Given the description of an element on the screen output the (x, y) to click on. 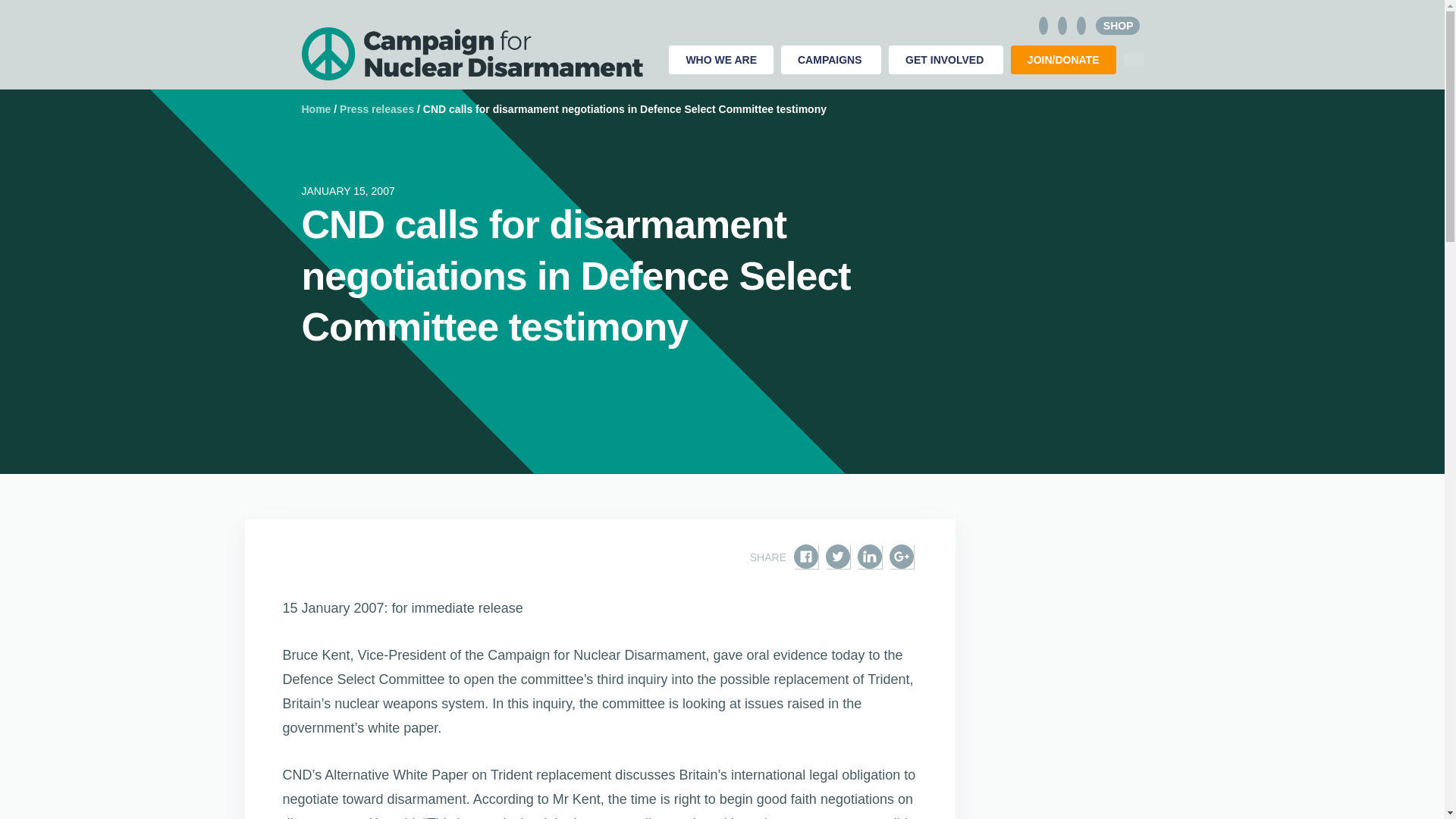
Home (316, 109)
CAMPAIGNS (830, 59)
Share on Facebook (805, 556)
Twitter (837, 556)
Share on Twitter (837, 556)
WHO WE ARE (720, 59)
SHOP (1118, 25)
Linkedin (869, 556)
Share on Linkedin (869, 556)
Facebook (805, 556)
Press releases (376, 109)
GET INVOLVED (945, 59)
